Given the description of an element on the screen output the (x, y) to click on. 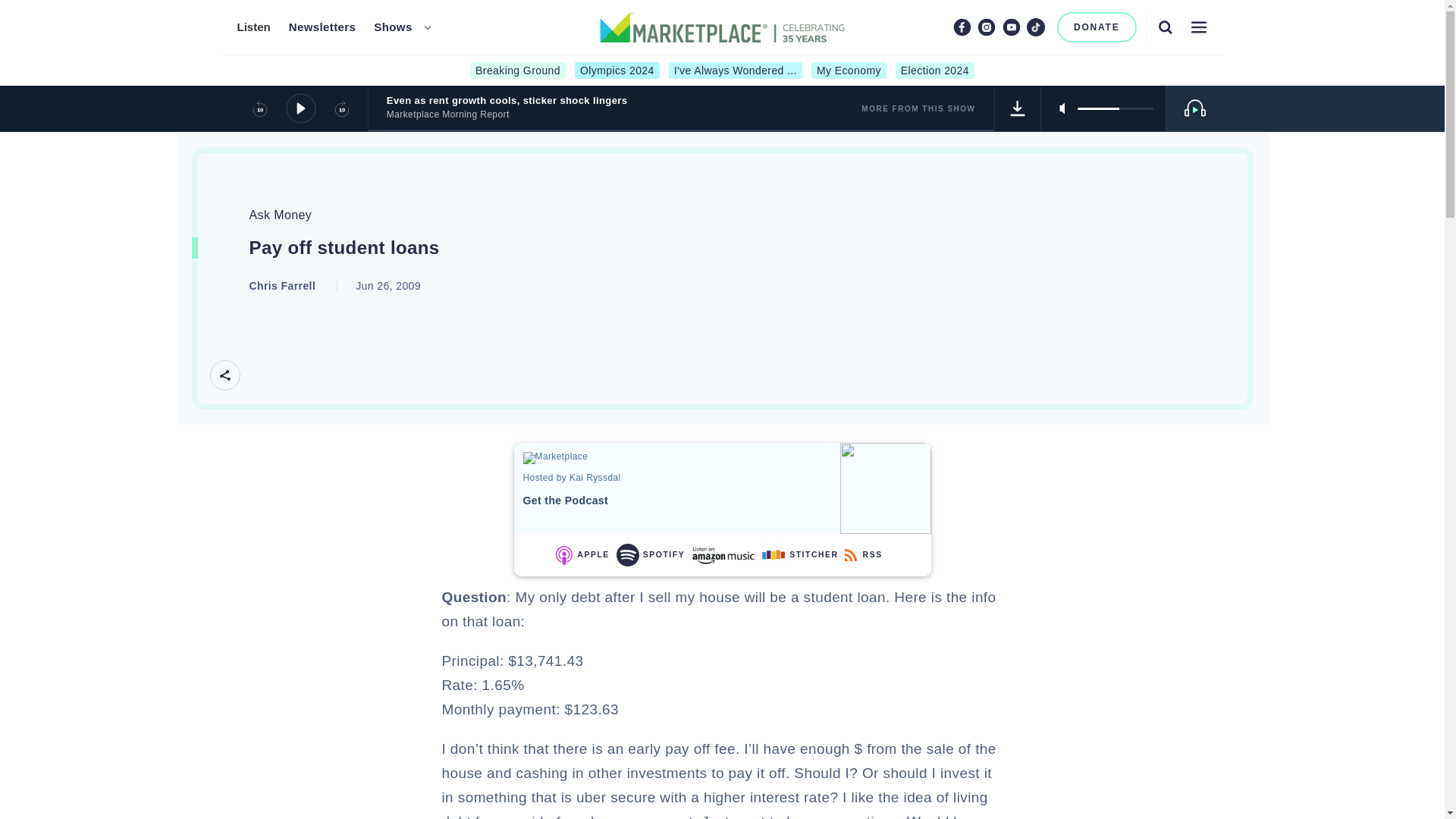
Shows (393, 26)
Facebook (962, 27)
Newsletters (322, 27)
Marketplace (575, 458)
DONATE (1097, 27)
Youtube (1011, 27)
5 (1115, 108)
TikTok (1035, 27)
Search (1164, 27)
